Given the description of an element on the screen output the (x, y) to click on. 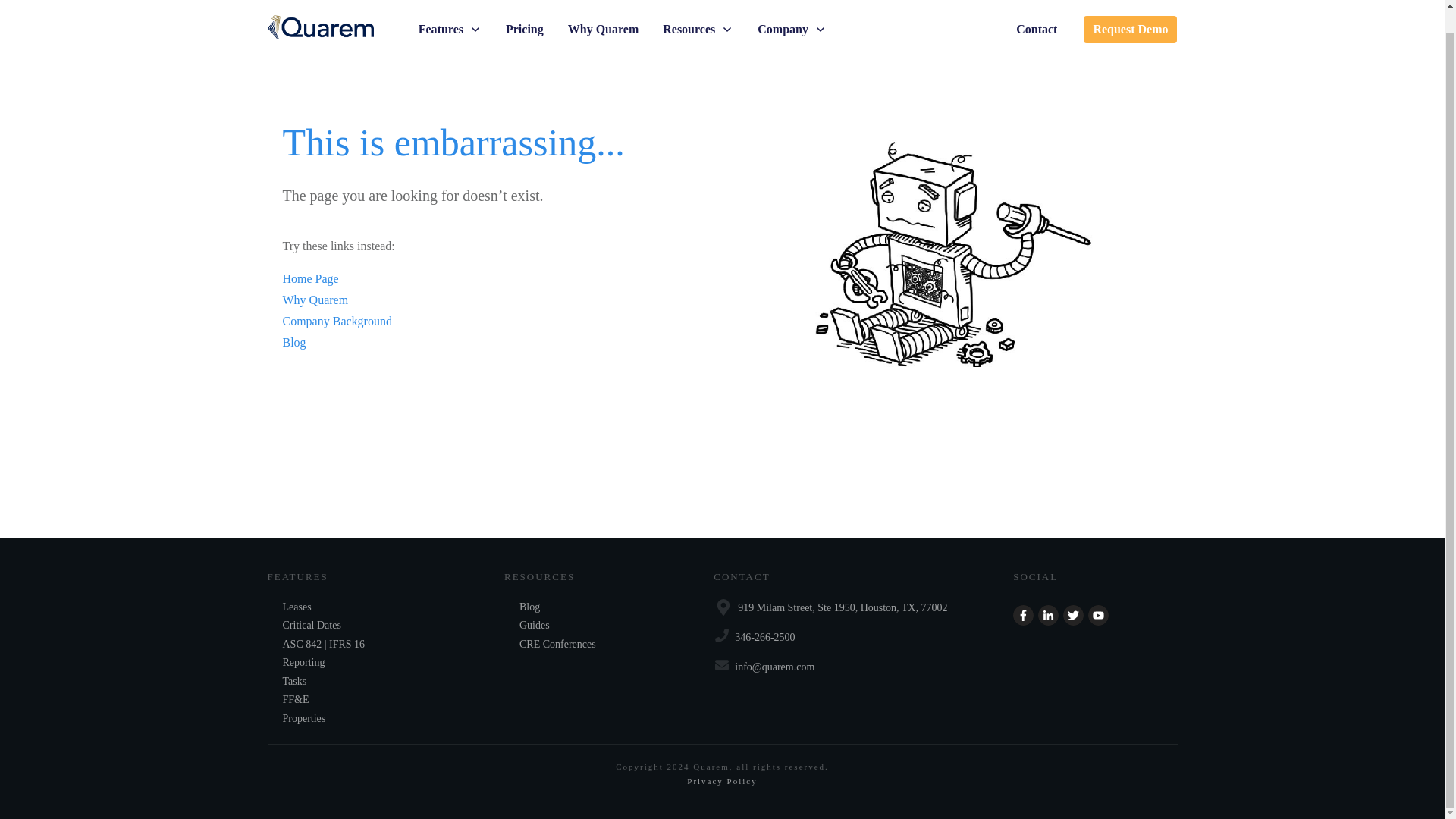
Why Quarem (603, 9)
Contact (1036, 9)
404-robot (952, 257)
Pricing (524, 9)
Resources (697, 9)
Request Demo (1130, 9)
Company (792, 9)
Features (450, 9)
